Given the description of an element on the screen output the (x, y) to click on. 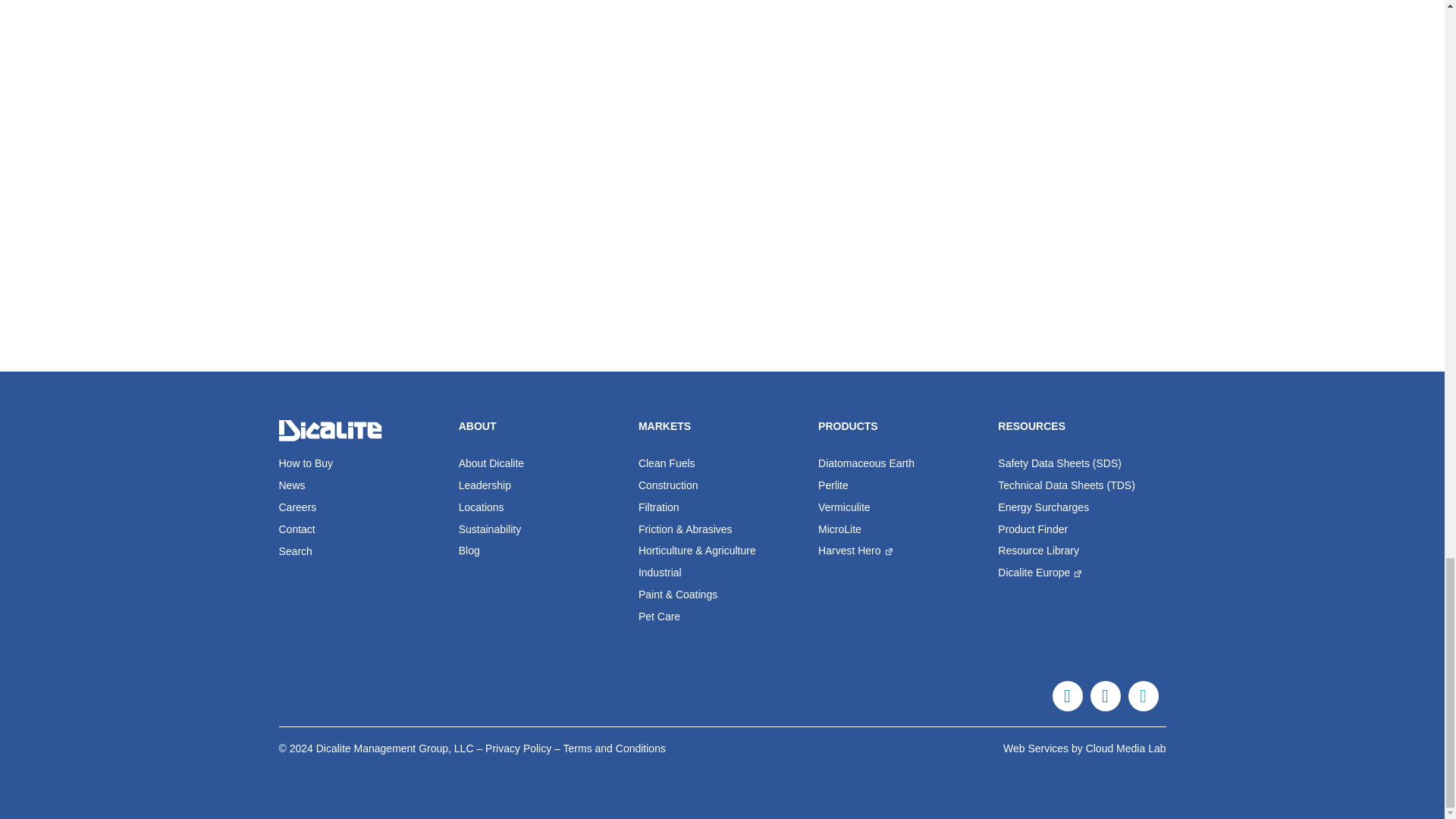
DICALITE MANAGEMENT GROUP (333, 430)
